Given the description of an element on the screen output the (x, y) to click on. 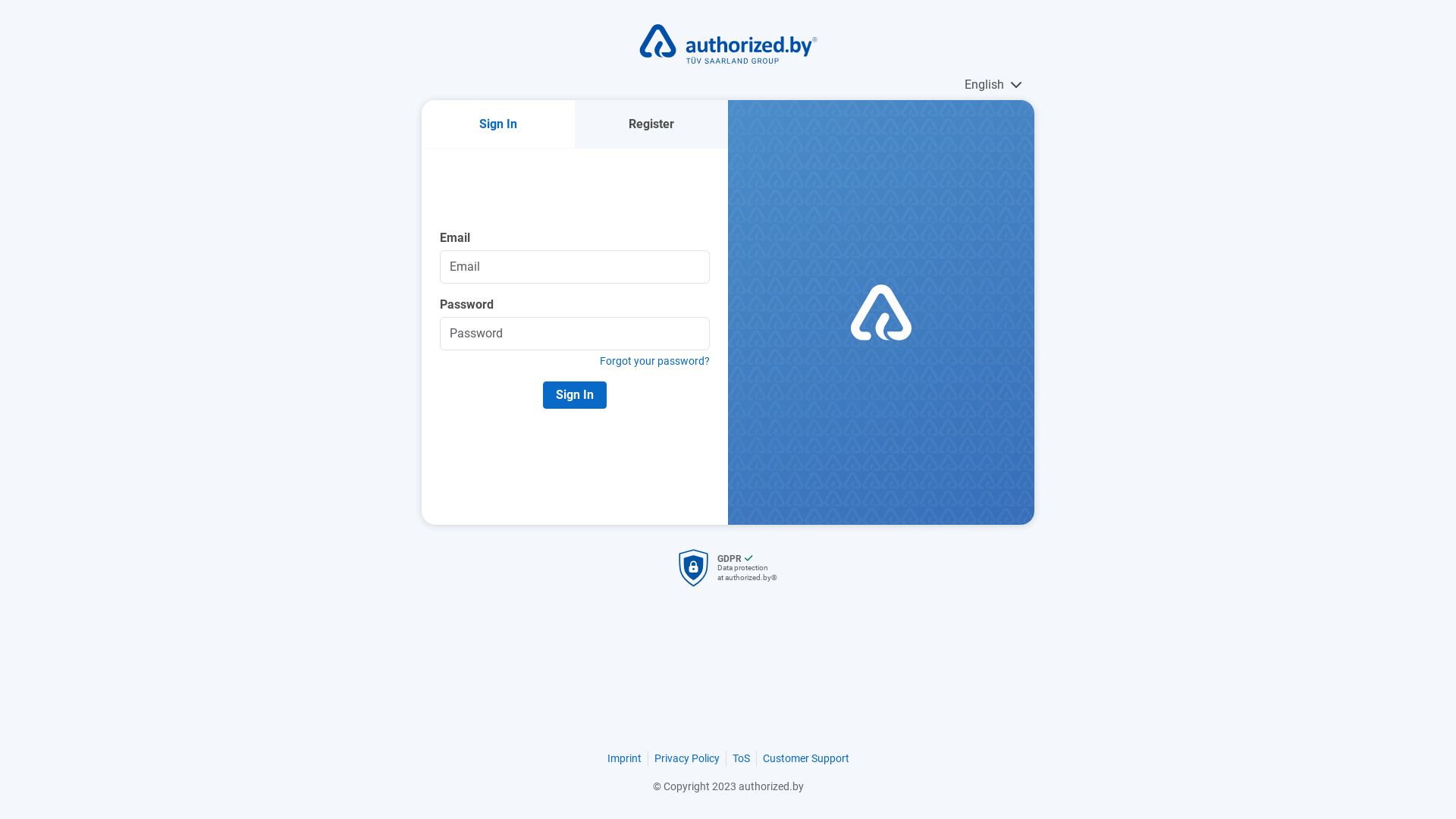
Privacy Policy Element type: text (685, 758)
Sign In Element type: text (497, 124)
Sign In Element type: text (574, 393)
ToS Element type: text (740, 758)
Customer Support Element type: text (805, 758)
Register Element type: text (651, 124)
Forgot your password? Element type: text (574, 361)
Imprint Element type: text (623, 758)
